Given the description of an element on the screen output the (x, y) to click on. 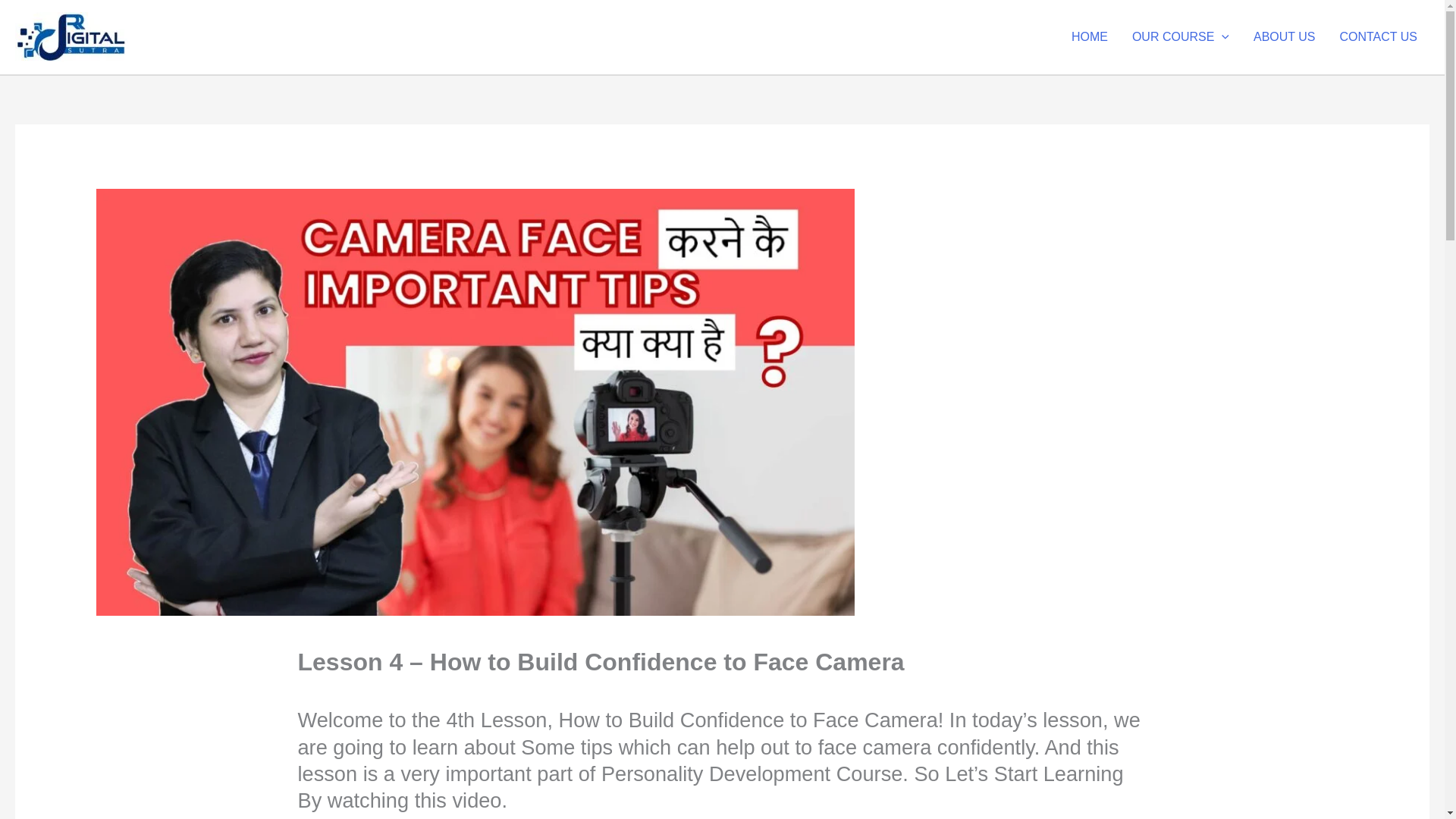
ABOUT US (1284, 36)
OUR COURSE (1180, 36)
CONTACT US (1377, 36)
HOME (1089, 36)
